Given the description of an element on the screen output the (x, y) to click on. 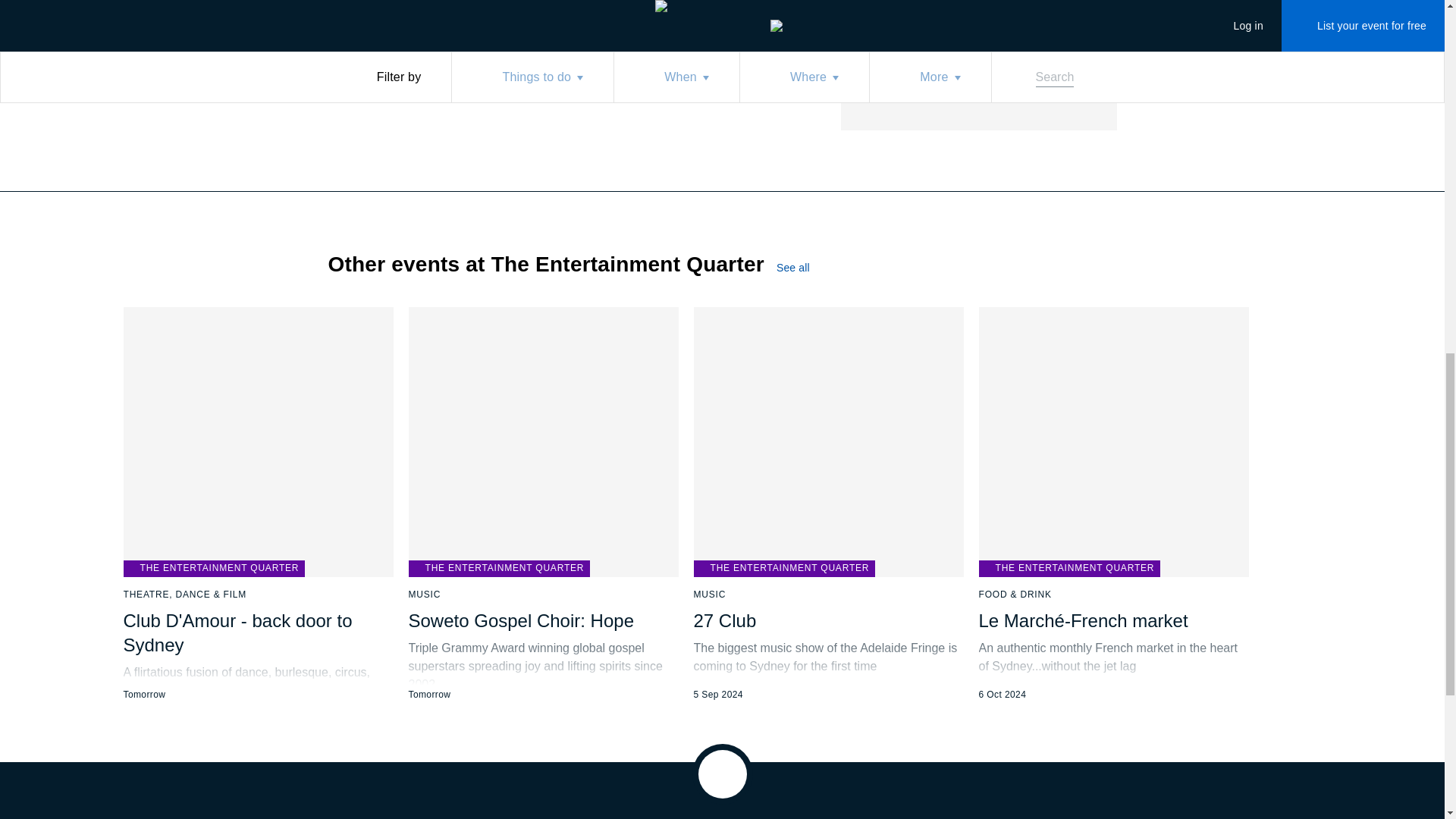
Soweto Gospel Choir: Hope (520, 620)
Club D'Amour - back door to Sydney (237, 632)
MUSIC (424, 594)
THE ENTERTAINMENT QUARTER (956, 30)
THE ENTERTAINMENT QUARTER (213, 568)
THE ENTERTAINMENT QUARTER (784, 568)
See all (498, 568)
